Given the description of an element on the screen output the (x, y) to click on. 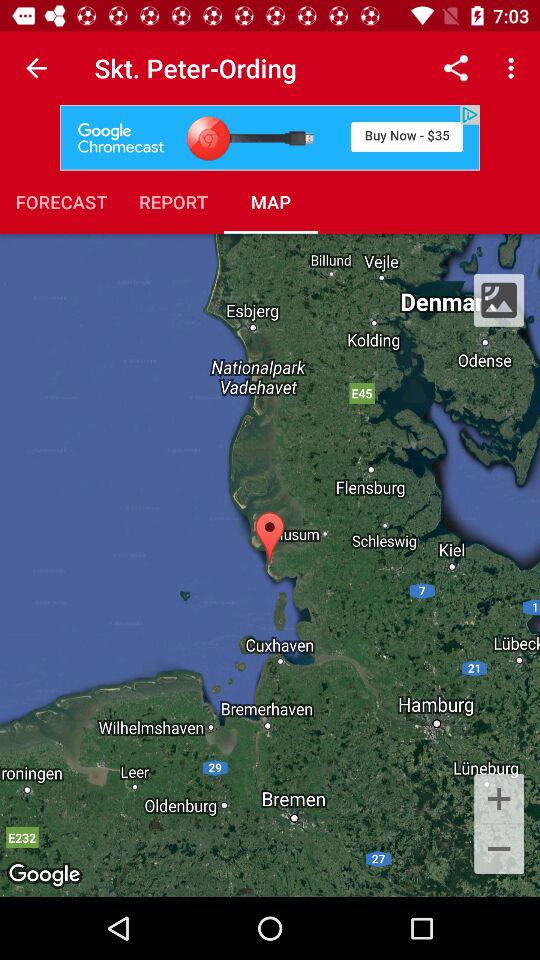
go to advertisement page (270, 137)
